Given the description of an element on the screen output the (x, y) to click on. 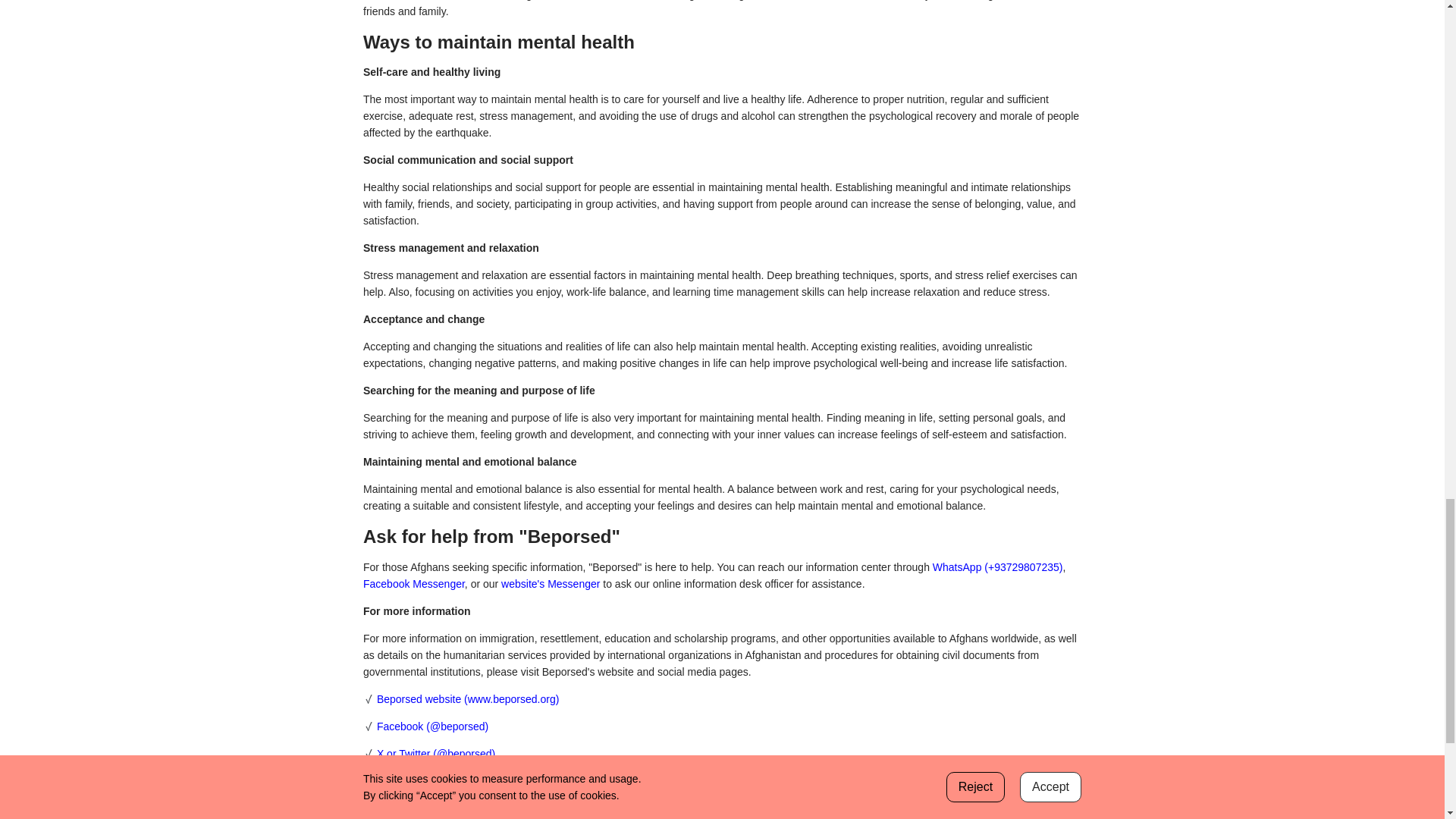
YouTube (398, 808)
Facebook Messenger (413, 583)
website's Messenger (549, 583)
